Given the description of an element on the screen output the (x, y) to click on. 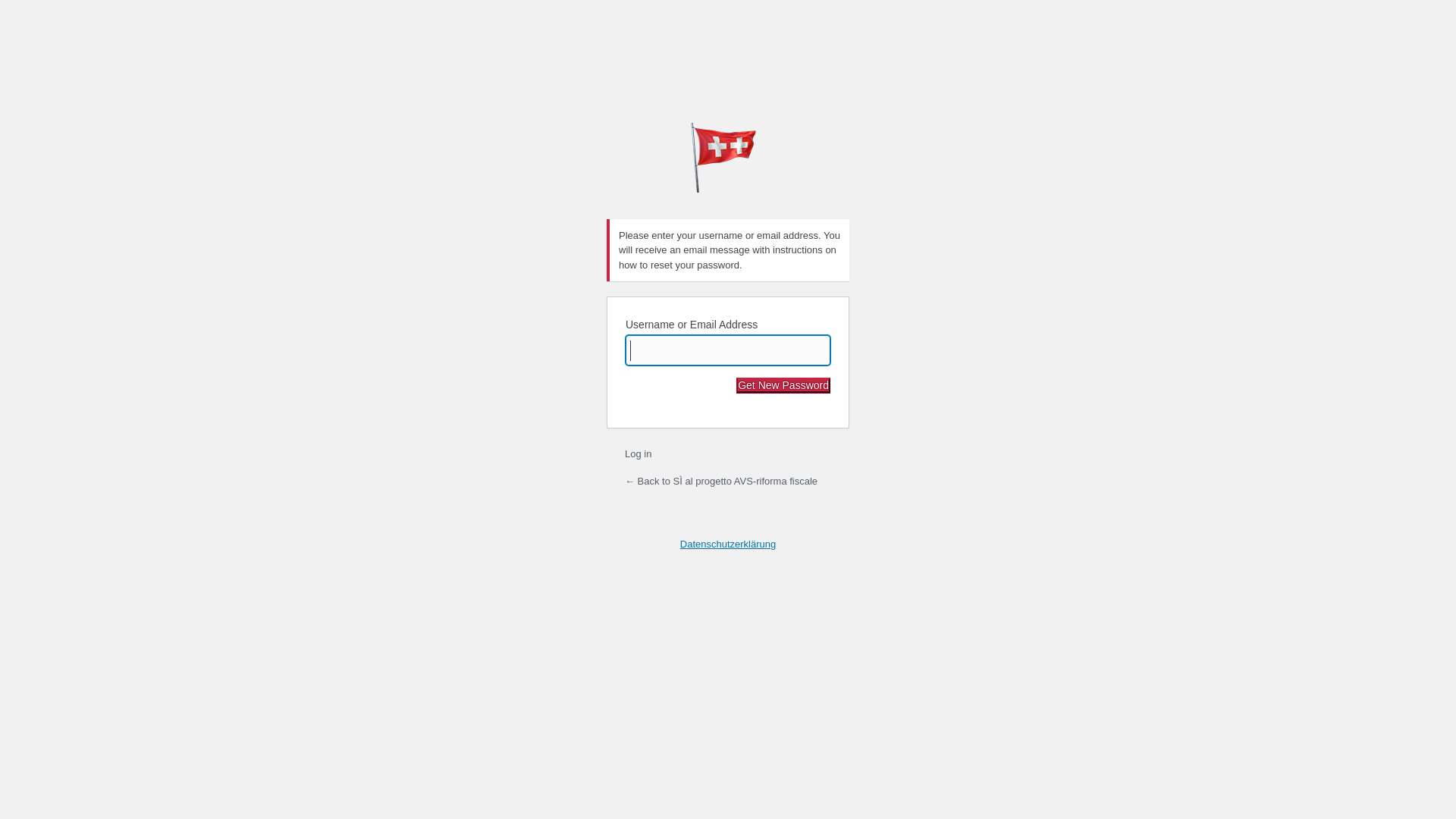
Log in Element type: text (637, 453)
Get New Password Element type: text (783, 384)
Powered by WordPress Element type: text (727, 158)
